Given the description of an element on the screen output the (x, y) to click on. 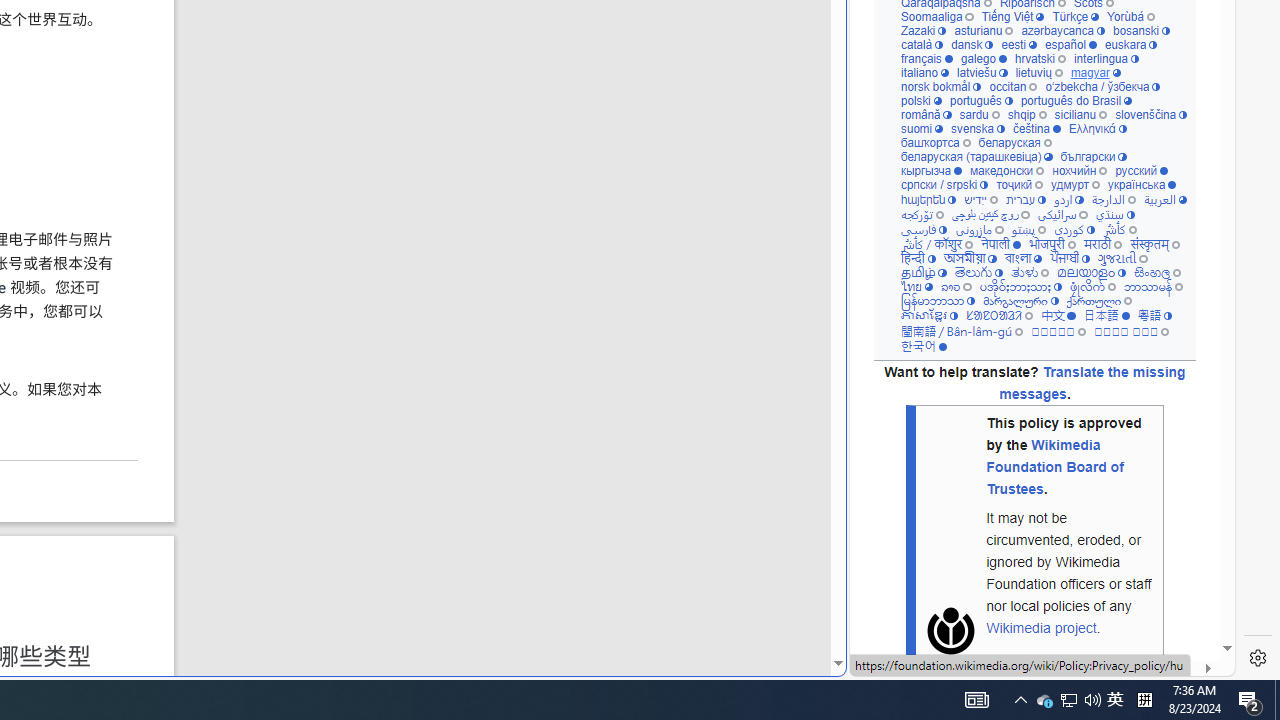
interlingua (1106, 58)
Wikimedia Foundation mark (950, 631)
